Given the description of an element on the screen output the (x, y) to click on. 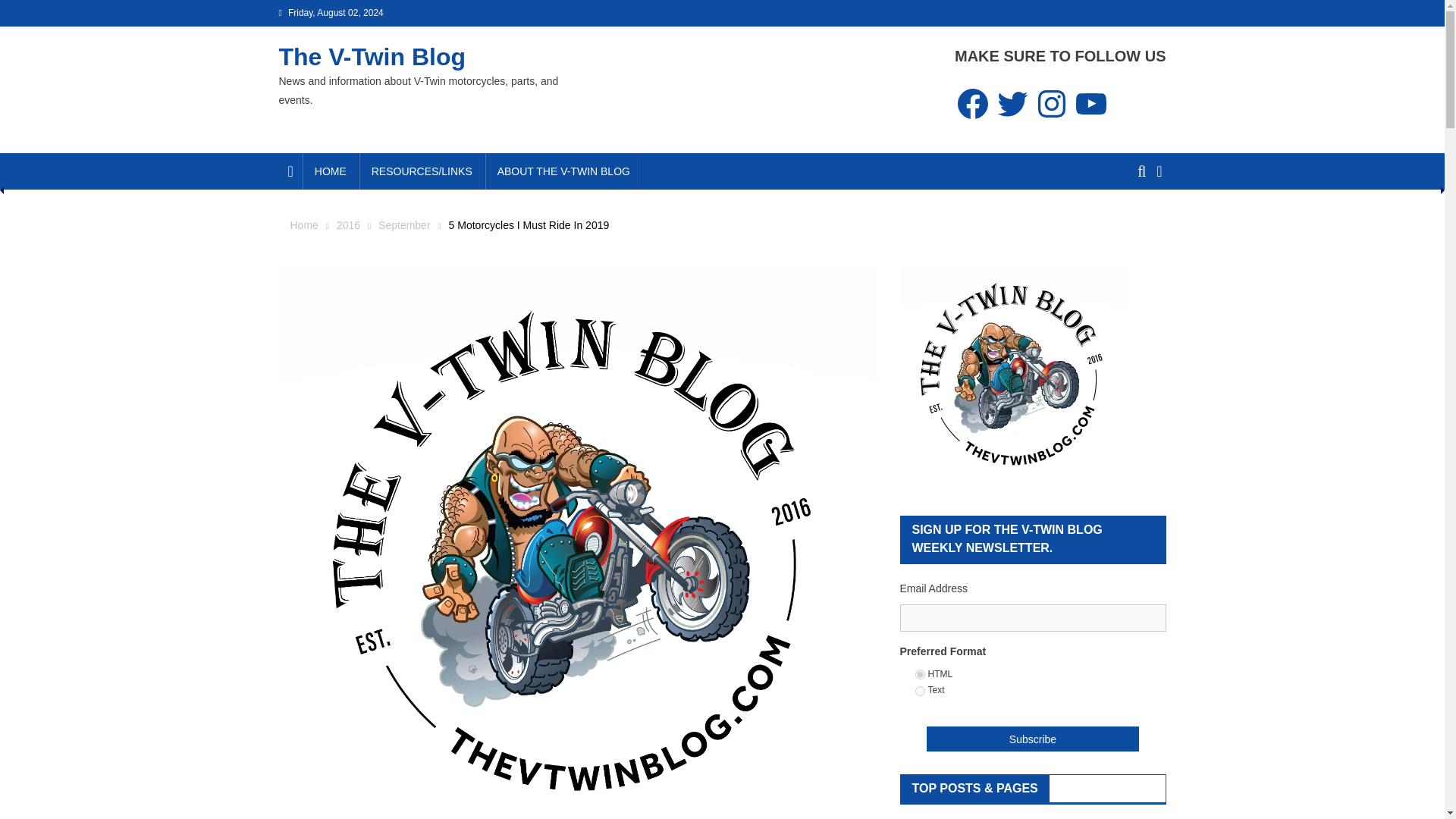
HOME (330, 171)
html (919, 674)
Twitter (1012, 103)
The V-Twin Blog (372, 56)
2016 (347, 224)
YouTube (1091, 103)
Instagram (1051, 103)
Search (1133, 226)
September (403, 224)
ABOUT THE V-TWIN BLOG (563, 171)
